Given the description of an element on the screen output the (x, y) to click on. 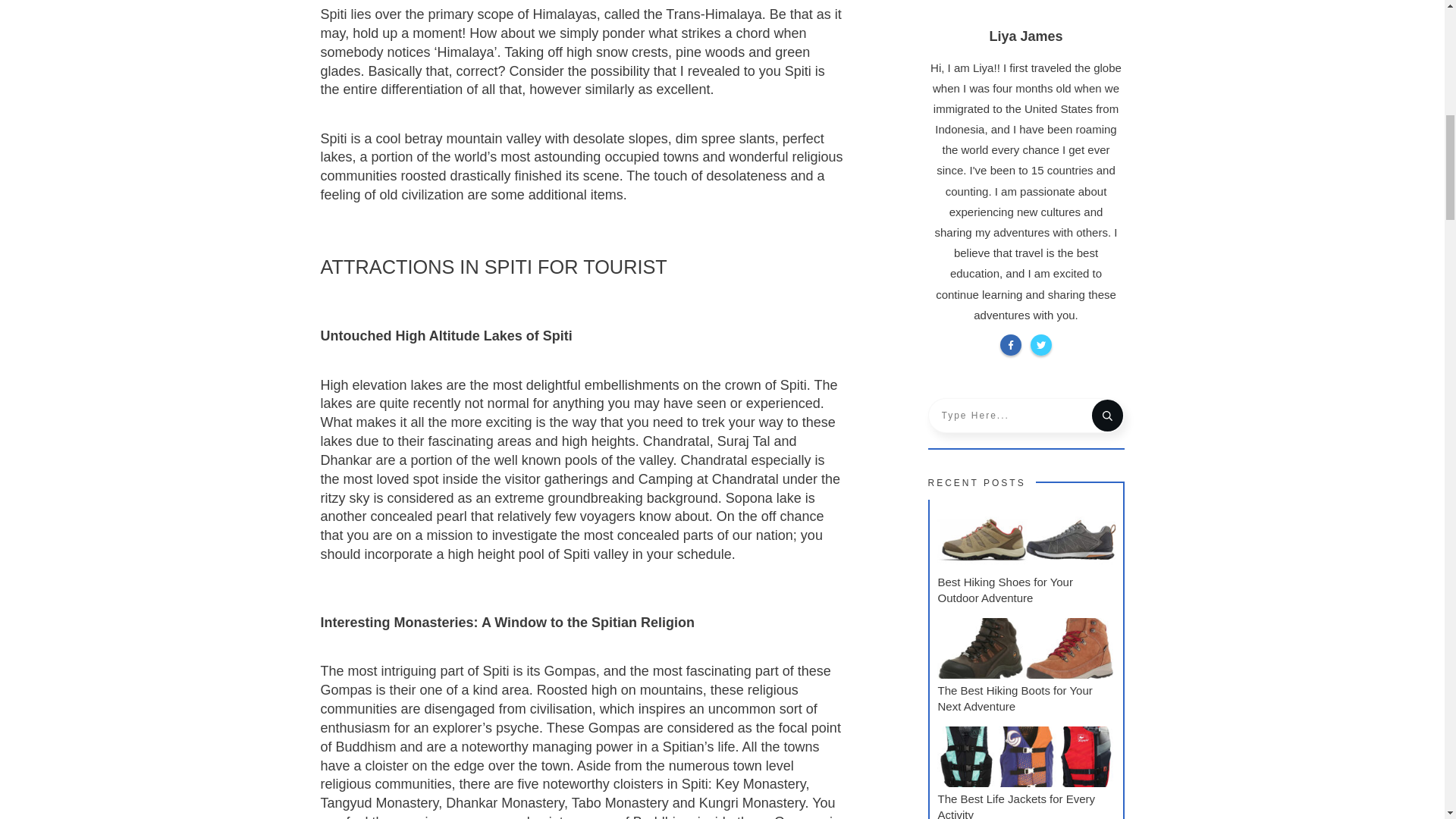
Best Hiking Shoes for Your Outdoor Adventure (1004, 589)
Copy of Split top 02 (1026, 2)
The Best Life Jackets for Every Activity (1015, 805)
The Best Life Jackets for Every Activity (1015, 805)
Best Hiking Shoes for Your Outdoor Adventure (1004, 589)
Liya James (1025, 35)
The Best Hiking Boots for Your Next Adventure (1014, 697)
The Best Hiking Boots for Your Next Adventure (1014, 697)
